Given the description of an element on the screen output the (x, y) to click on. 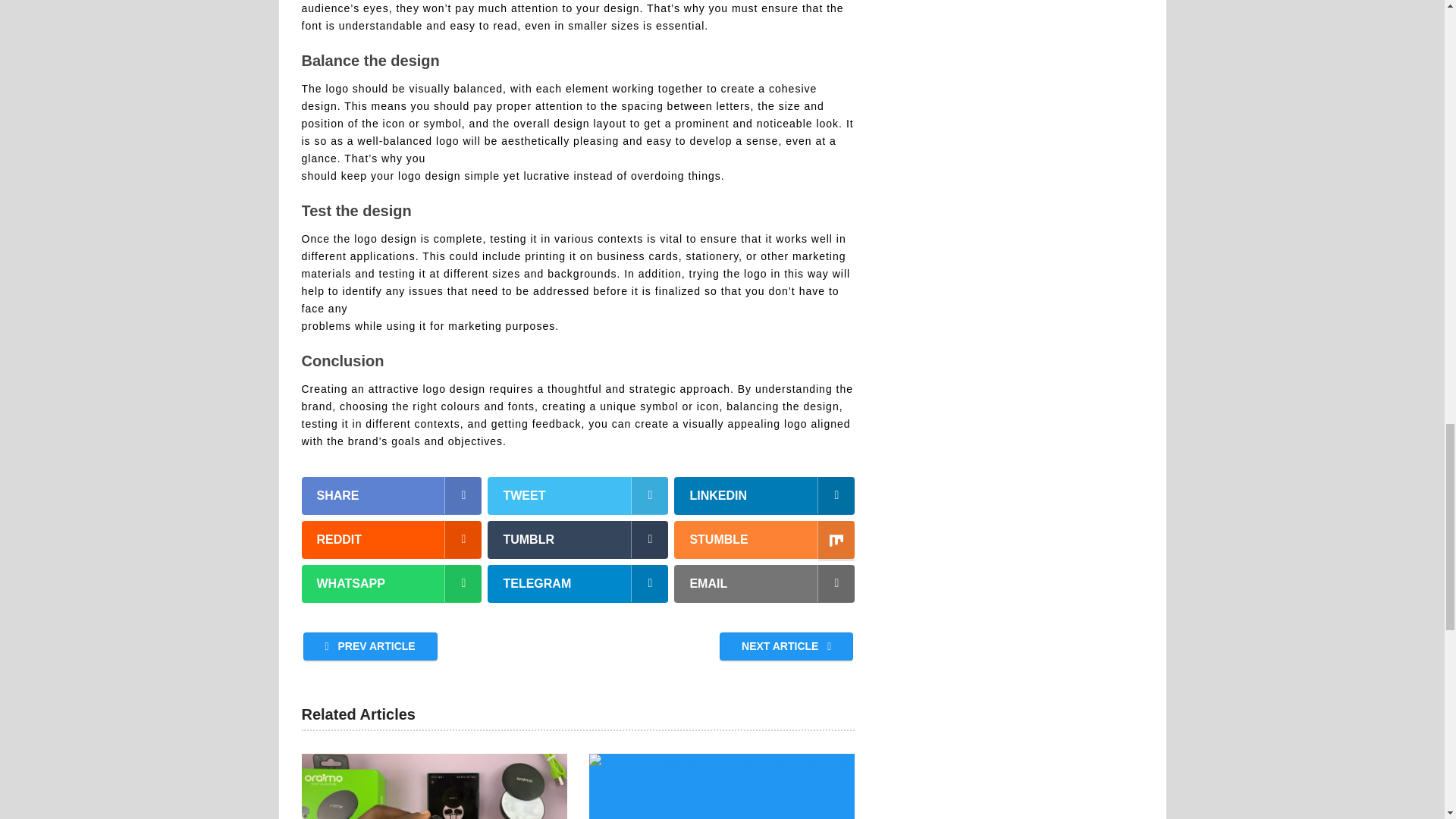
REDDIT (391, 539)
TELEGRAM (577, 583)
LINKEDIN (764, 495)
TWEET (577, 495)
How To Use Split Screen On Samsung Galaxy Z Flip 5 (721, 786)
PREV ARTICLE (370, 646)
EMAIL (764, 583)
STUMBLE (764, 539)
SHARE (391, 495)
TUMBLR (577, 539)
